Given the description of an element on the screen output the (x, y) to click on. 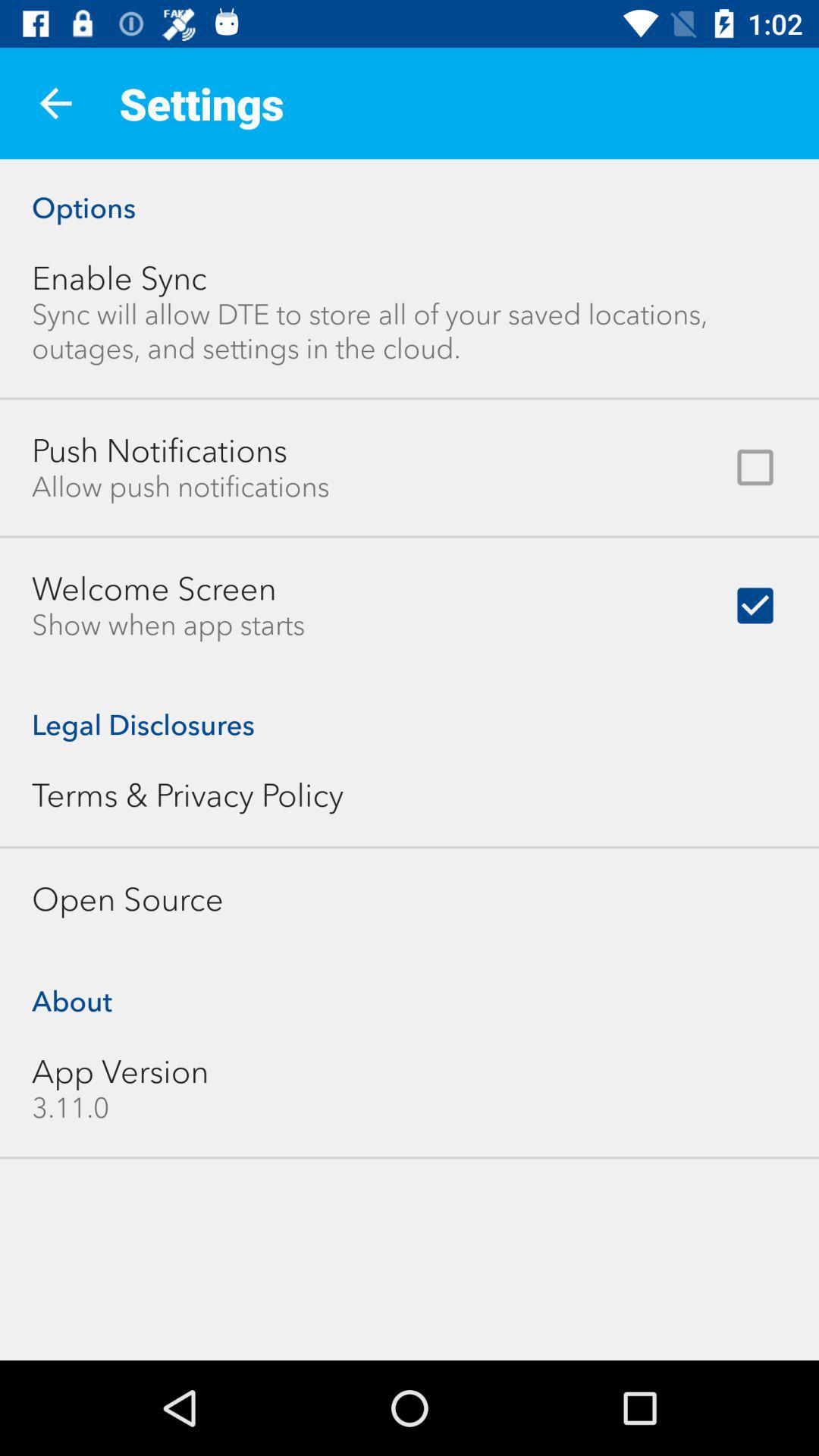
open icon above the enable sync icon (409, 192)
